Given the description of an element on the screen output the (x, y) to click on. 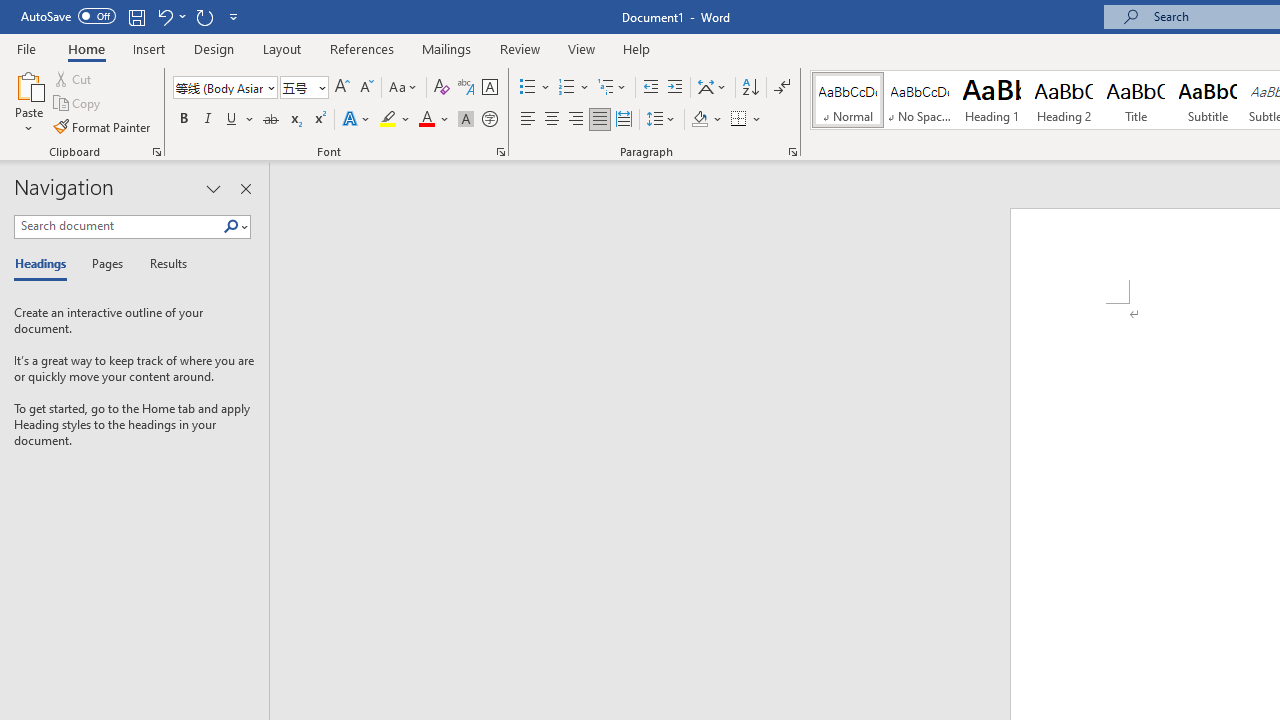
Font Color Red (426, 119)
Undo Apply Quick Style (164, 15)
